Given the description of an element on the screen output the (x, y) to click on. 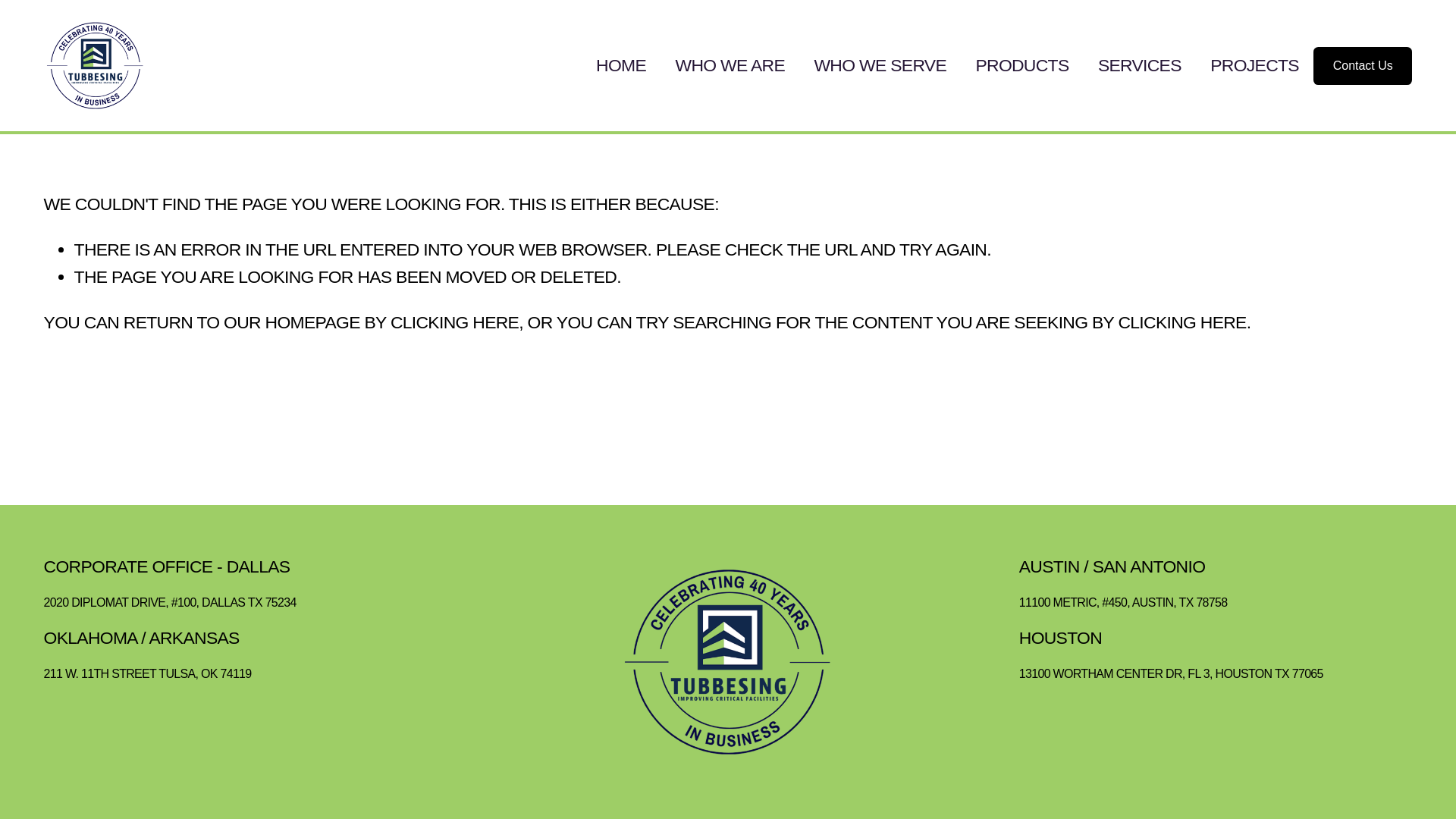
WHO WE SERVE (879, 65)
WHO WE ARE (729, 65)
HOME (620, 65)
PRODUCTS (1021, 65)
Contact Us (1362, 65)
PROJECTS (1253, 65)
SERVICES (1138, 65)
